Given the description of an element on the screen output the (x, y) to click on. 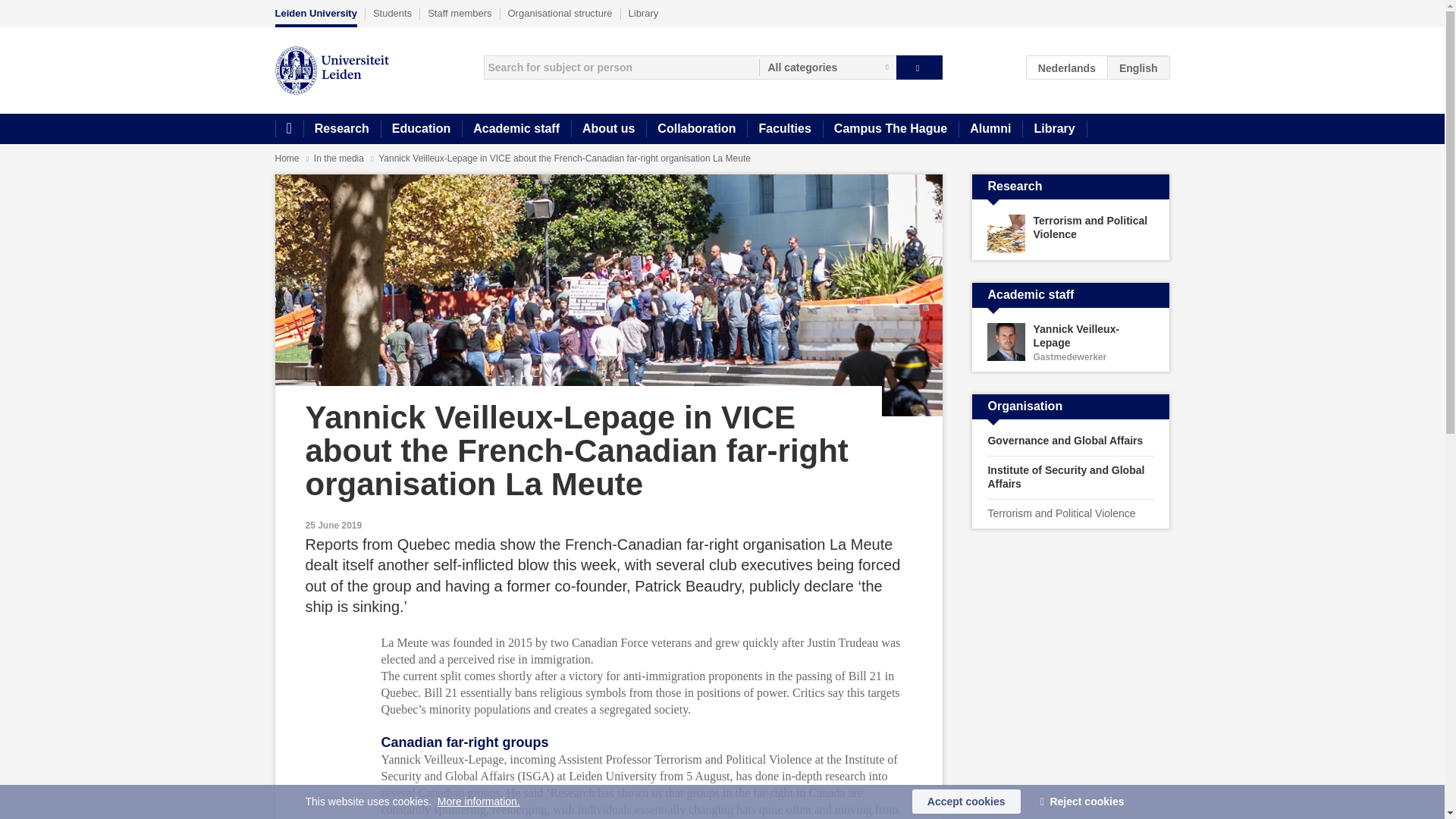
Collaboration (696, 128)
Campus The Hague (890, 128)
Faculties (784, 128)
Research (341, 128)
Search (919, 67)
Leiden University (315, 17)
Staff members (460, 13)
In the media (340, 158)
Library (1054, 128)
Home (288, 128)
Home (286, 158)
Organisational structure (560, 13)
Academic staff (515, 128)
Education (420, 128)
About us (608, 128)
